Given the description of an element on the screen output the (x, y) to click on. 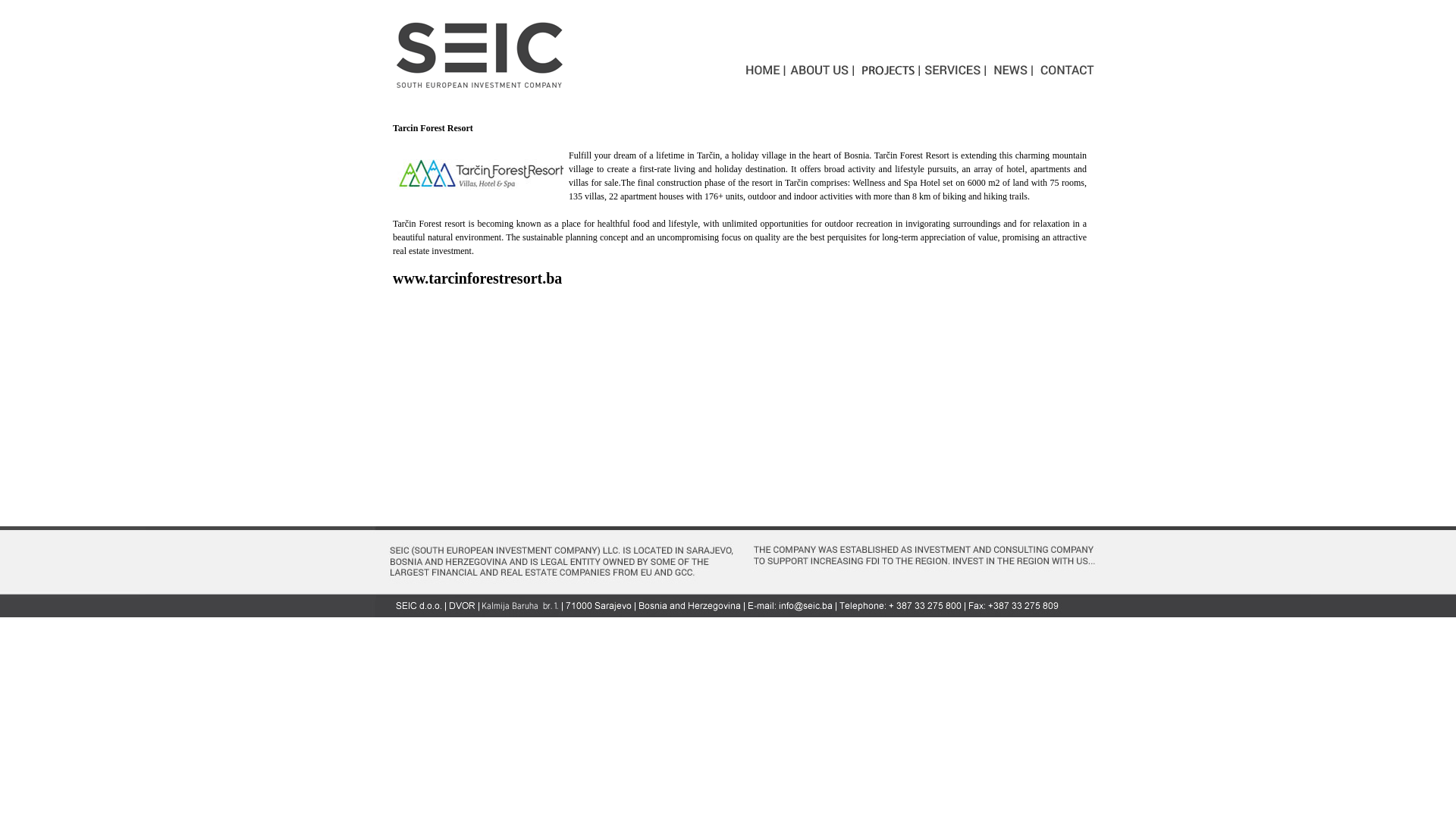
www.tarcinforestresort.ba Element type: text (476, 277)
SEIC | South European Investment Company Element type: hover (481, 54)
